Given the description of an element on the screen output the (x, y) to click on. 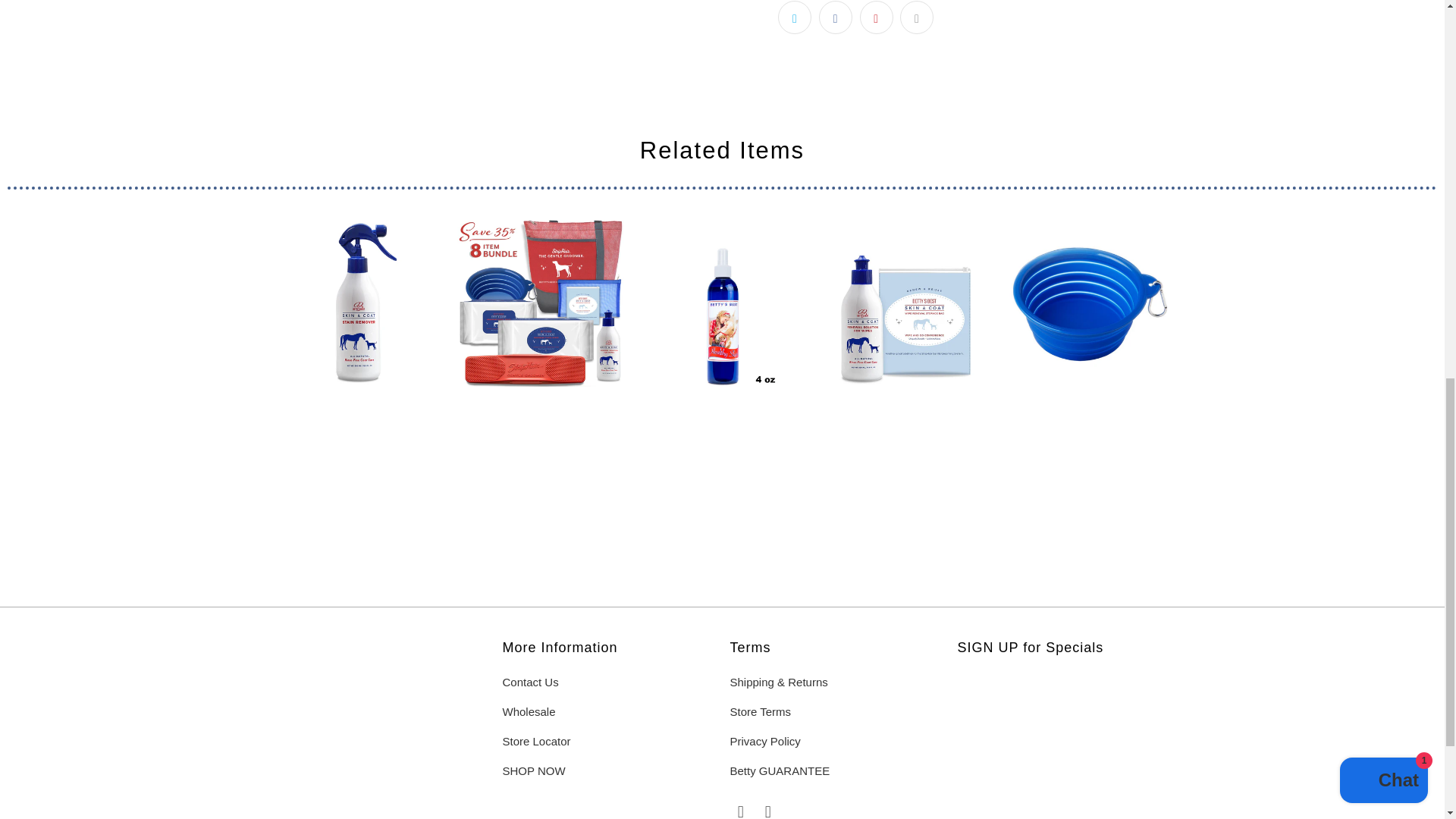
Share this on Twitter (793, 17)
Share this on Facebook (834, 17)
Share this on Pinterest (876, 17)
StripHair on Facebook (740, 811)
Email this to a friend (916, 17)
StripHair on Instagram (767, 811)
